Given the description of an element on the screen output the (x, y) to click on. 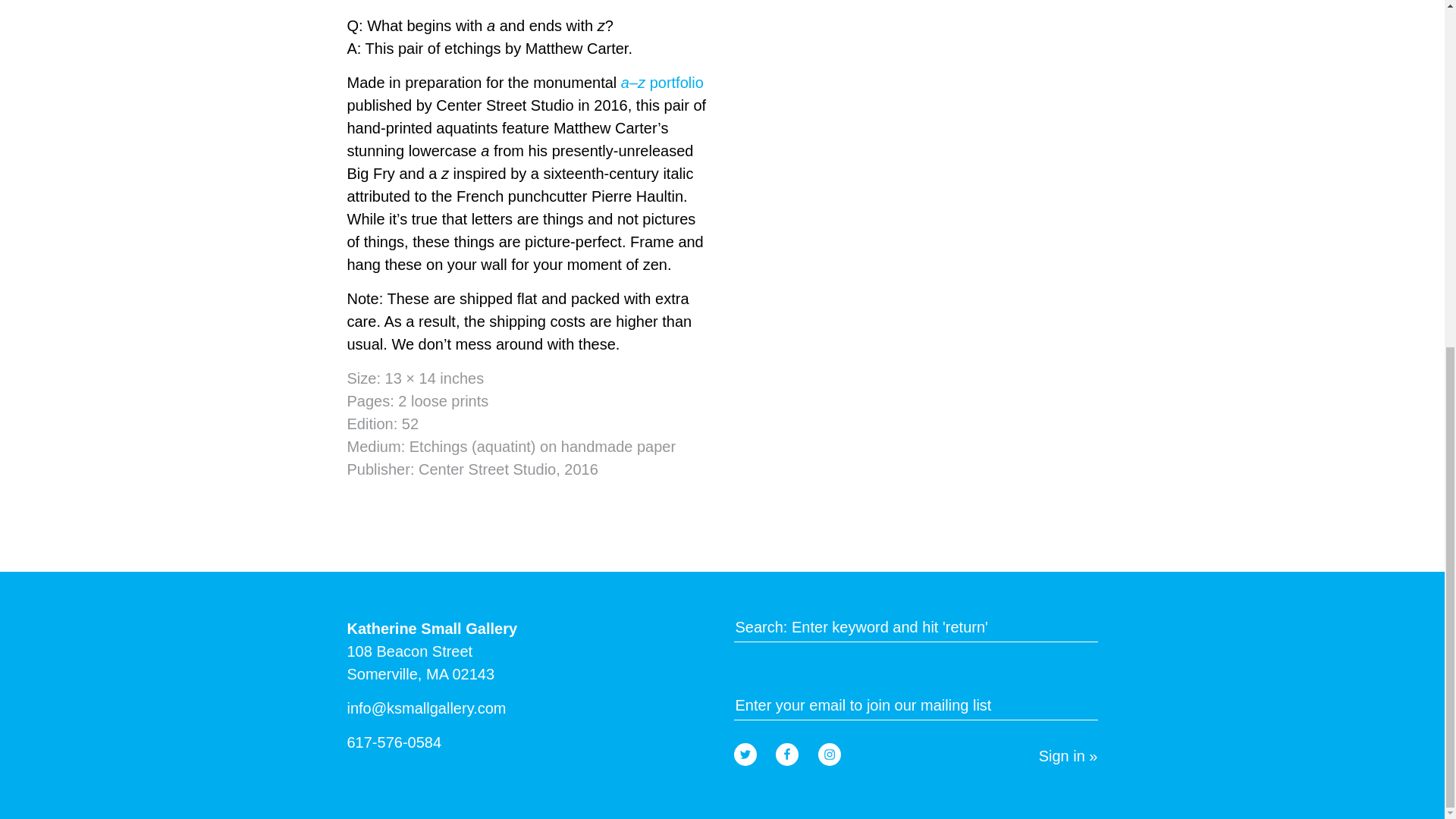
Facebook (786, 753)
Katherine Small Gallery on Facebook (786, 753)
Katherine Small Gallery on Instagram (829, 753)
Twitter (745, 753)
Instagram (829, 753)
Katherine Small Gallery on Twitter (745, 753)
